Given the description of an element on the screen output the (x, y) to click on. 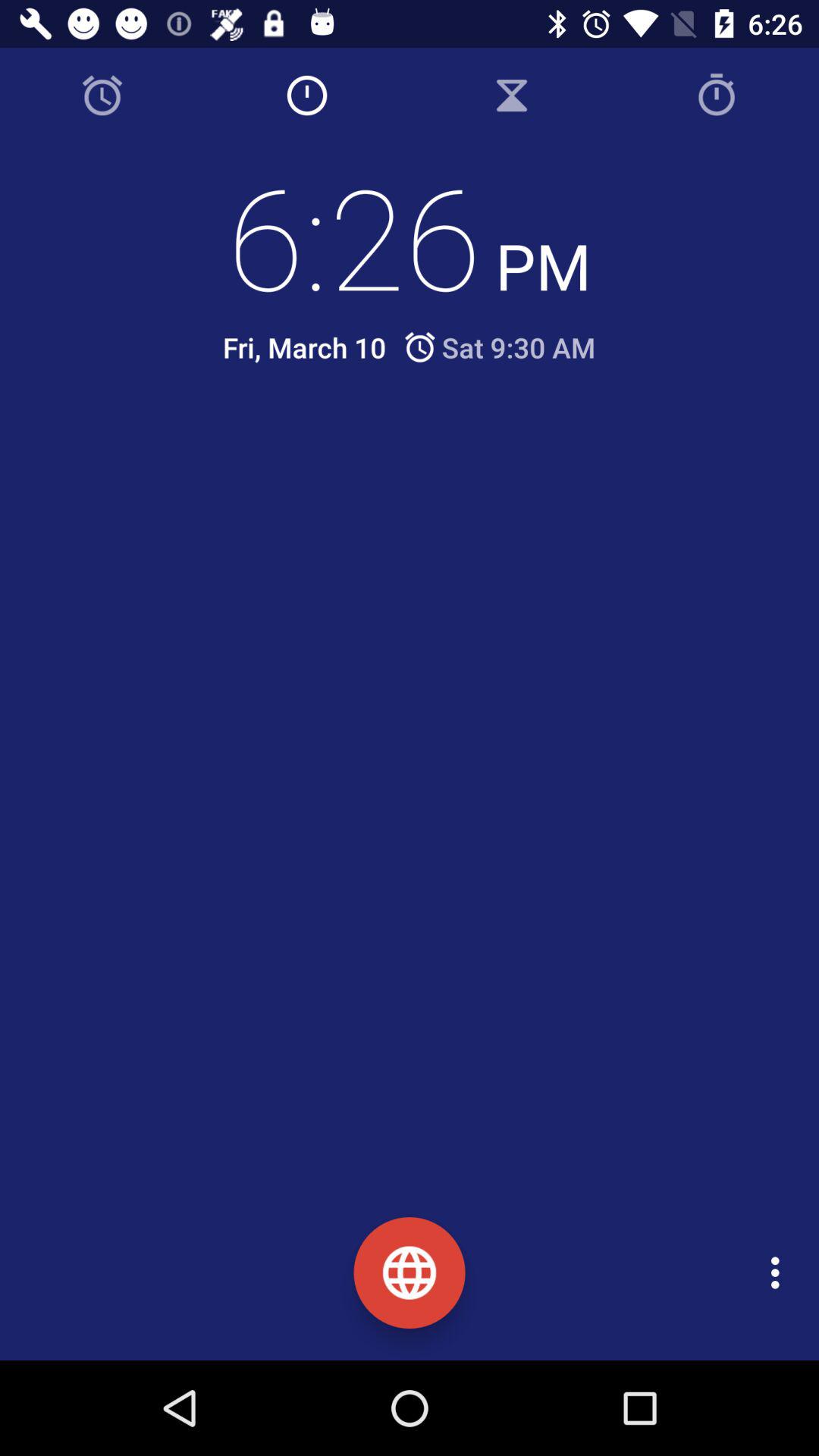
press icon below fri, march 10 (421, 453)
